Given the description of an element on the screen output the (x, y) to click on. 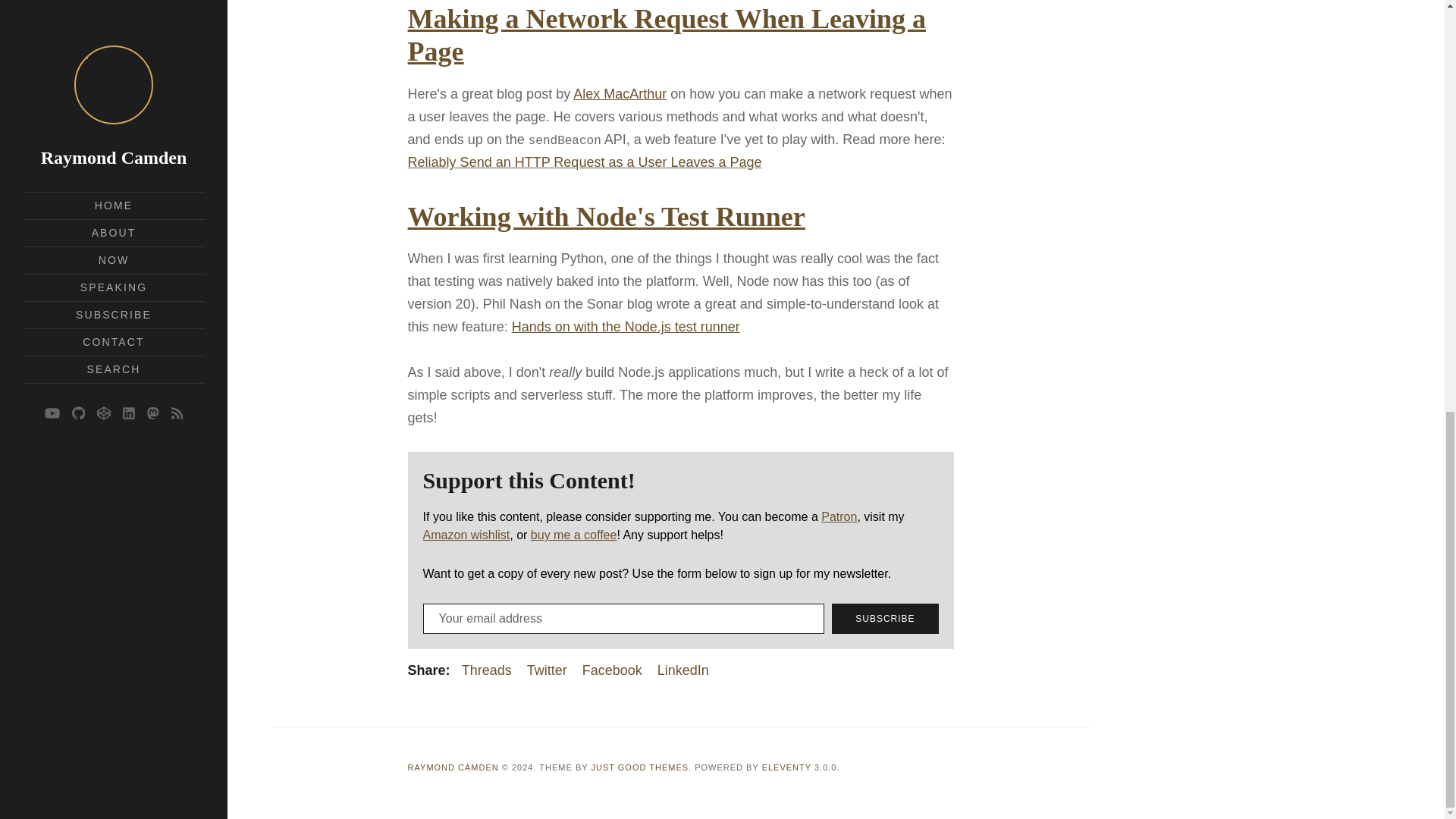
Hands on with the Node.js test runner (625, 326)
Working with Node's Test Runner (606, 216)
buy me a coffee (574, 534)
RAYMOND CAMDEN (453, 767)
SUBSCRIBE (884, 618)
JUST GOOD THEMES (639, 767)
Alex MacArthur (619, 92)
Threads (486, 670)
Patron (839, 516)
Facebook (612, 670)
